Given the description of an element on the screen output the (x, y) to click on. 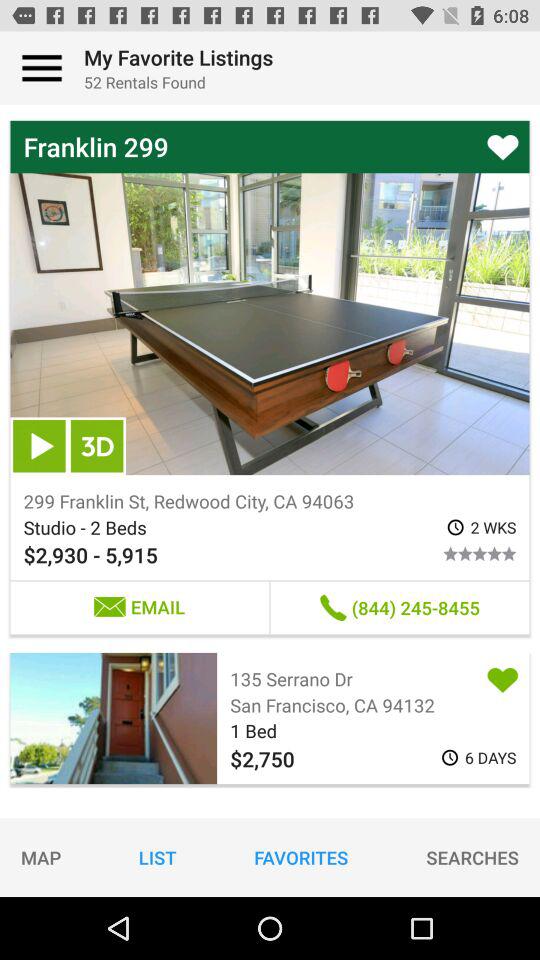
choose the list icon (157, 857)
